Given the description of an element on the screen output the (x, y) to click on. 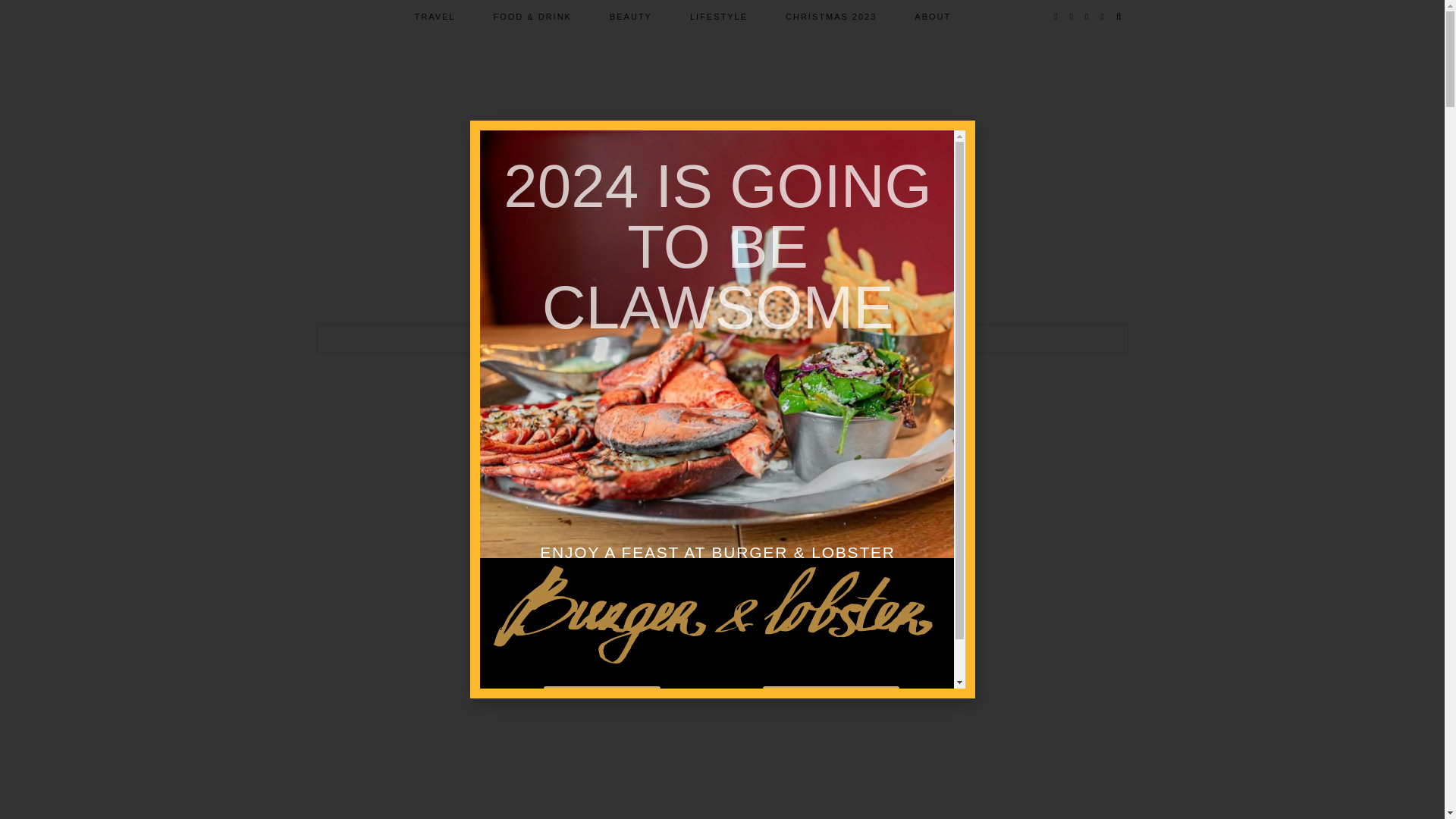
LIFESTYLE (719, 16)
ABOUT (932, 16)
BEAUTY (631, 16)
CHRISTMAS 2023 (831, 16)
TRAVEL (435, 16)
